Given the description of an element on the screen output the (x, y) to click on. 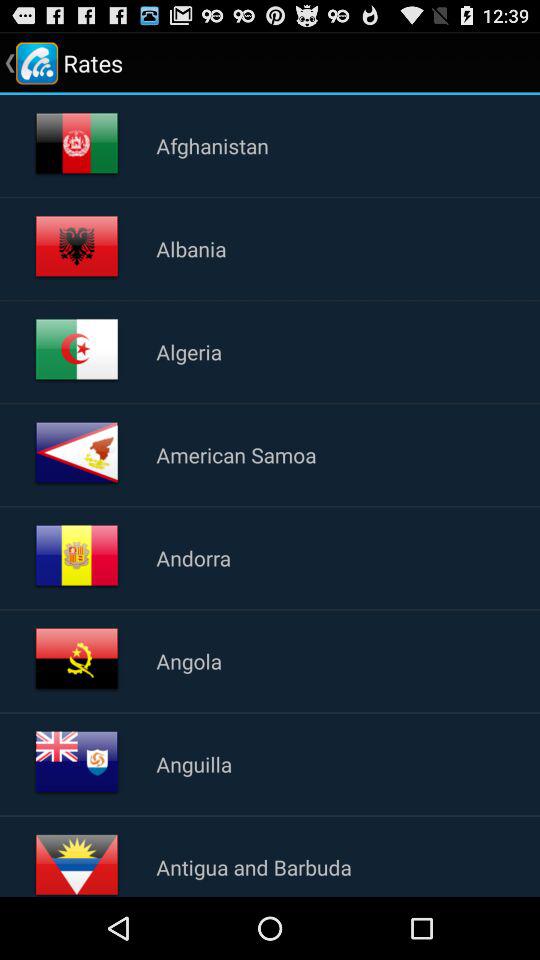
press item above the andorra icon (236, 454)
